Given the description of an element on the screen output the (x, y) to click on. 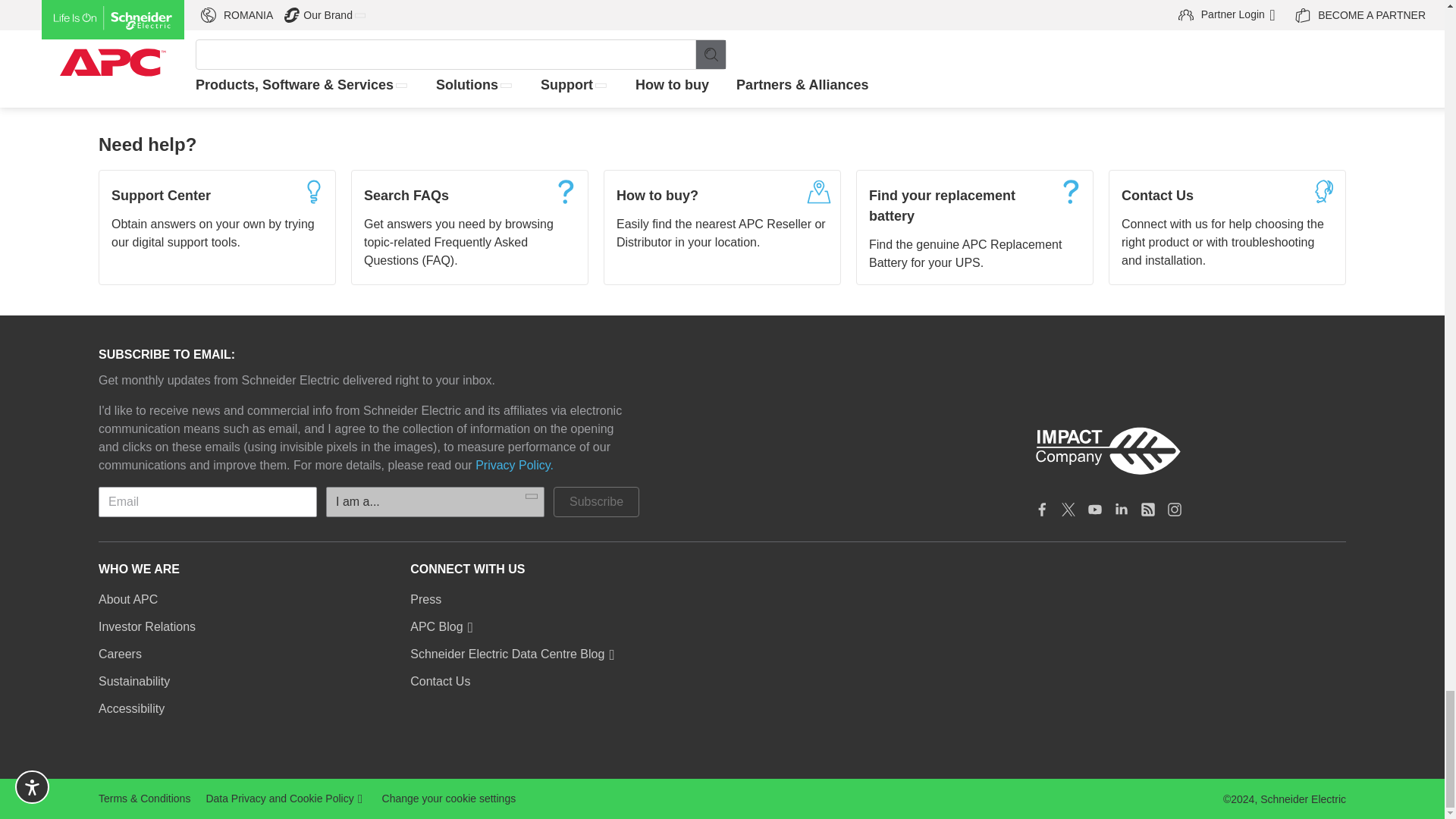
YouTube (1094, 509)
Privacy Policy. (514, 465)
Careers (120, 654)
Investor Relations (147, 627)
Accessibility (131, 709)
Sustainability (134, 681)
Twitter (1068, 509)
Instagram (1174, 509)
Sustainability (1189, 451)
Facebook (1041, 509)
LinkedIn (1121, 509)
RSS (1148, 509)
